Given the description of an element on the screen output the (x, y) to click on. 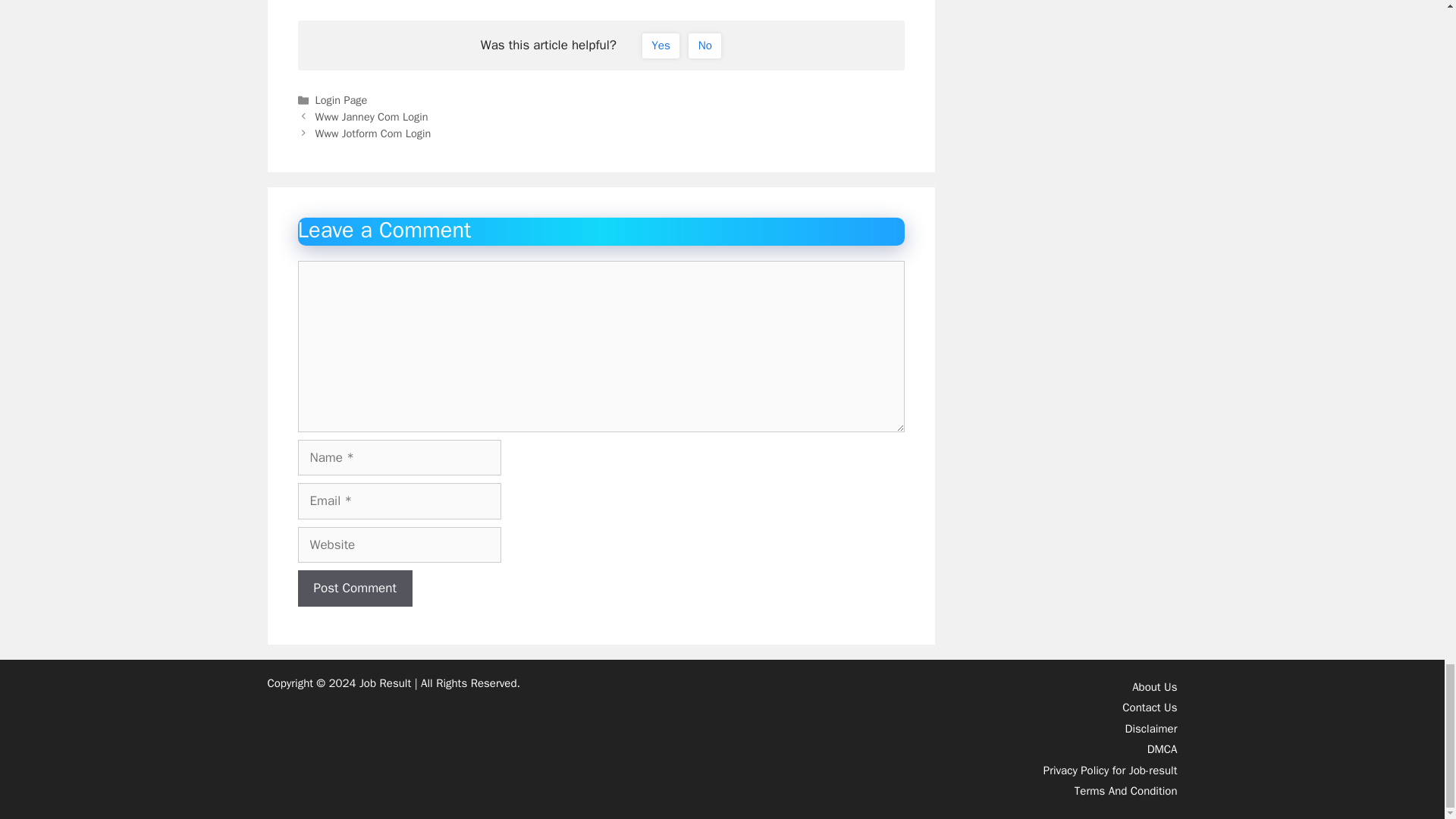
Post Comment (354, 588)
Www Jotform Com Login (372, 133)
Www Janney Com Login (371, 116)
Login Page (341, 100)
Post Comment (354, 588)
